Given the description of an element on the screen output the (x, y) to click on. 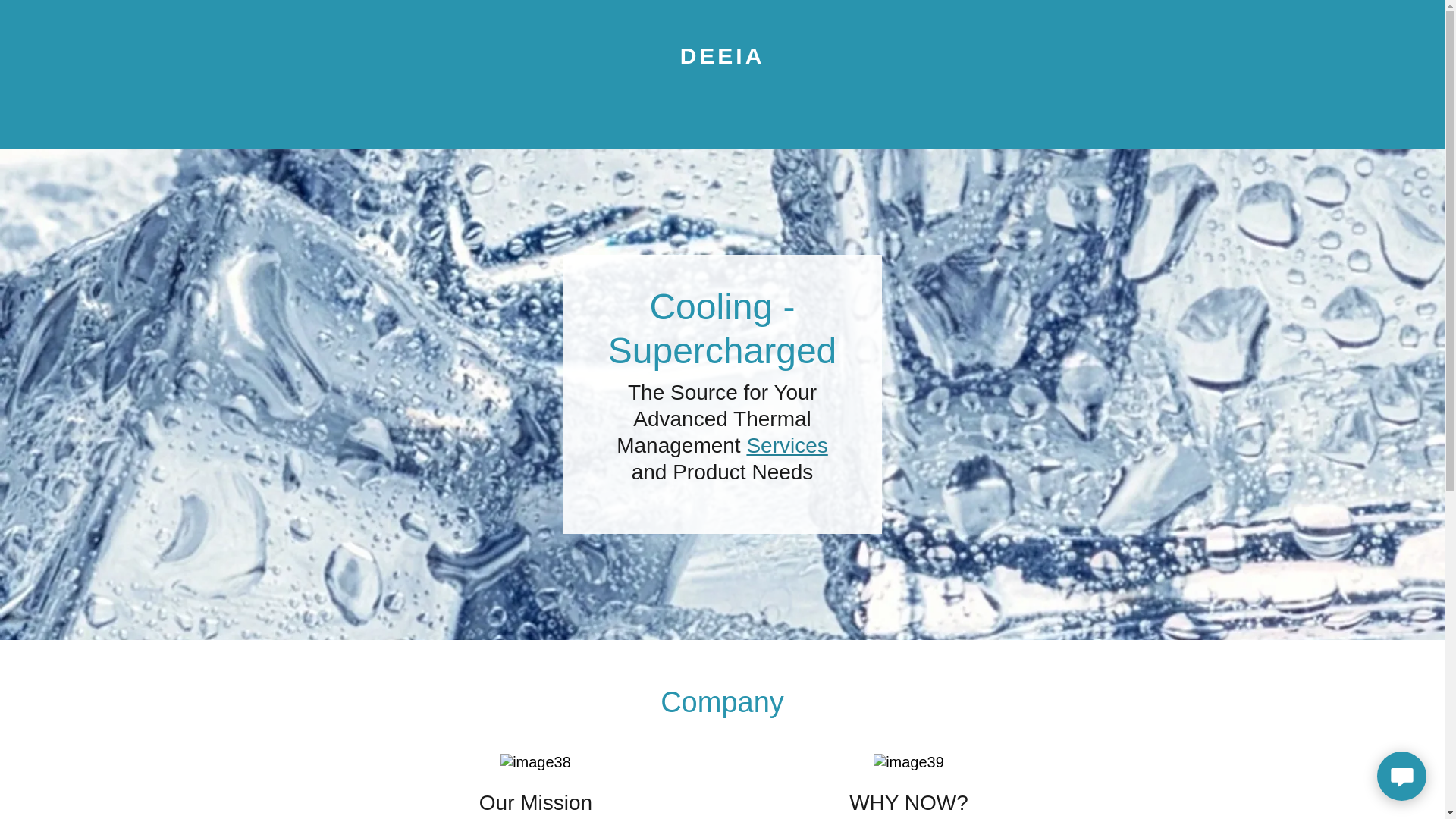
Deeia (721, 57)
Services (786, 445)
DEEIA (721, 57)
